Given the description of an element on the screen output the (x, y) to click on. 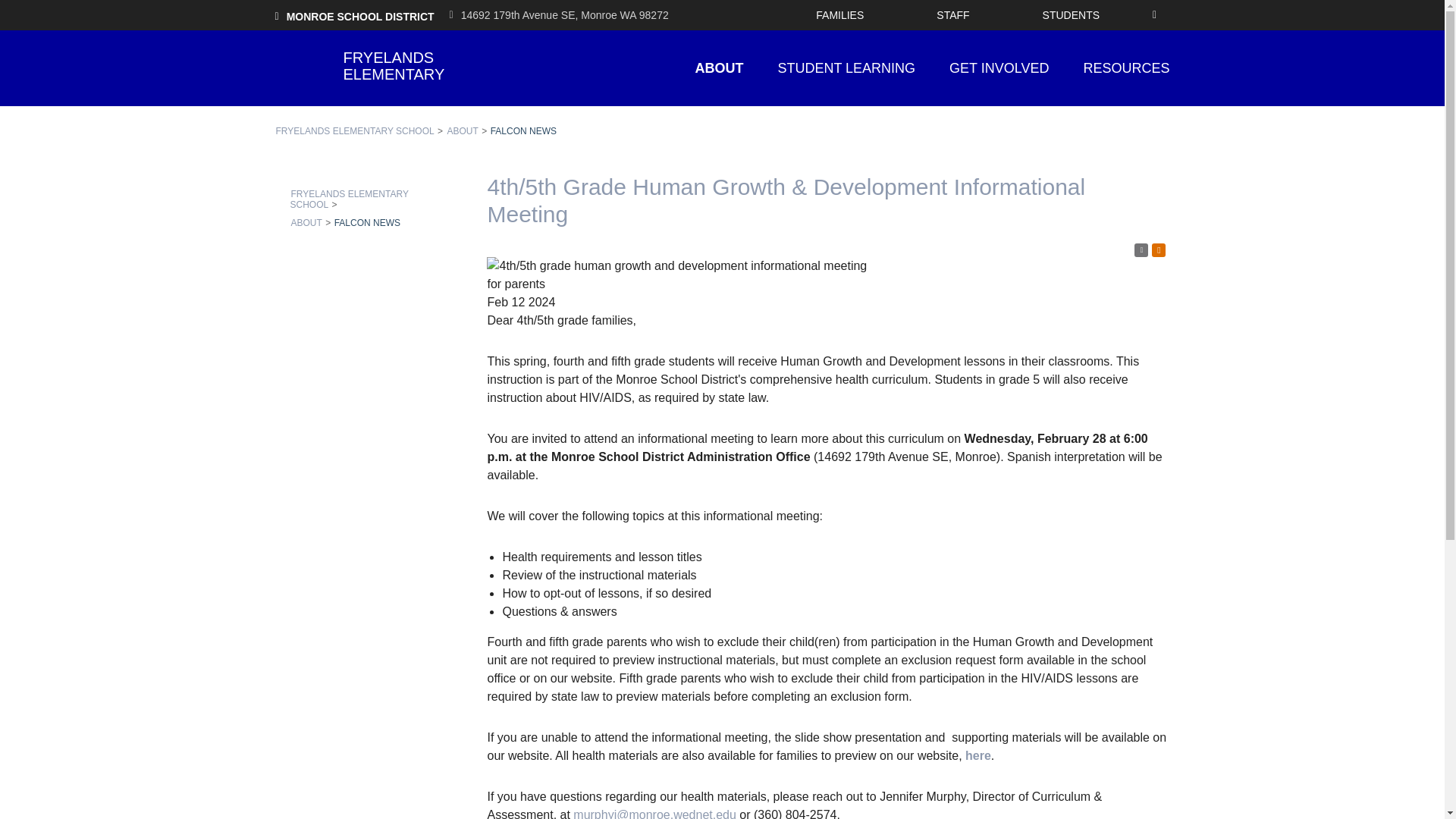
MONROE SCHOOL DISTRICT (354, 15)
Monroe School District Office (558, 15)
Alerts (1158, 250)
RSS (1141, 250)
